Given the description of an element on the screen output the (x, y) to click on. 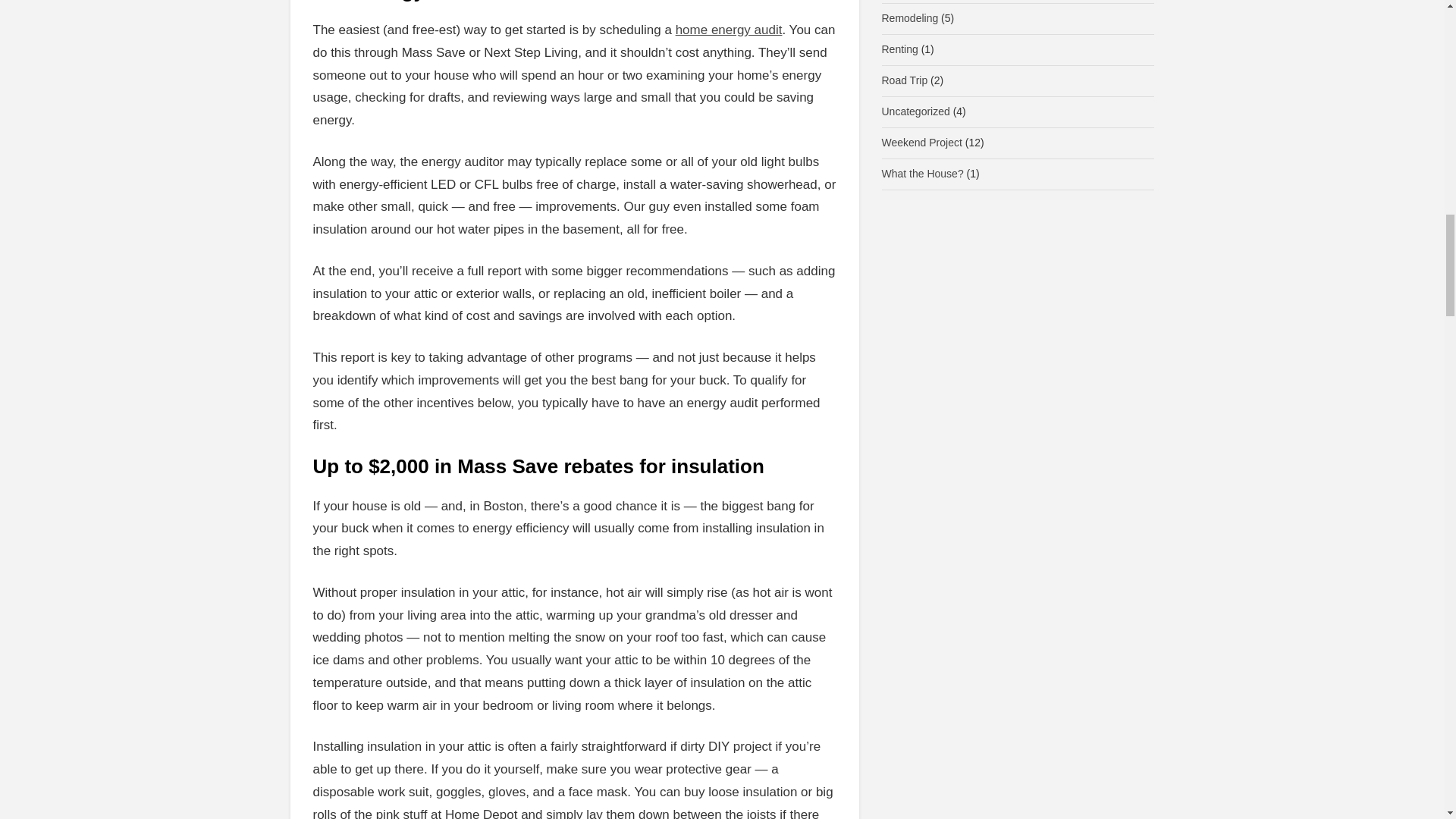
home energy audit (729, 29)
